Given the description of an element on the screen output the (x, y) to click on. 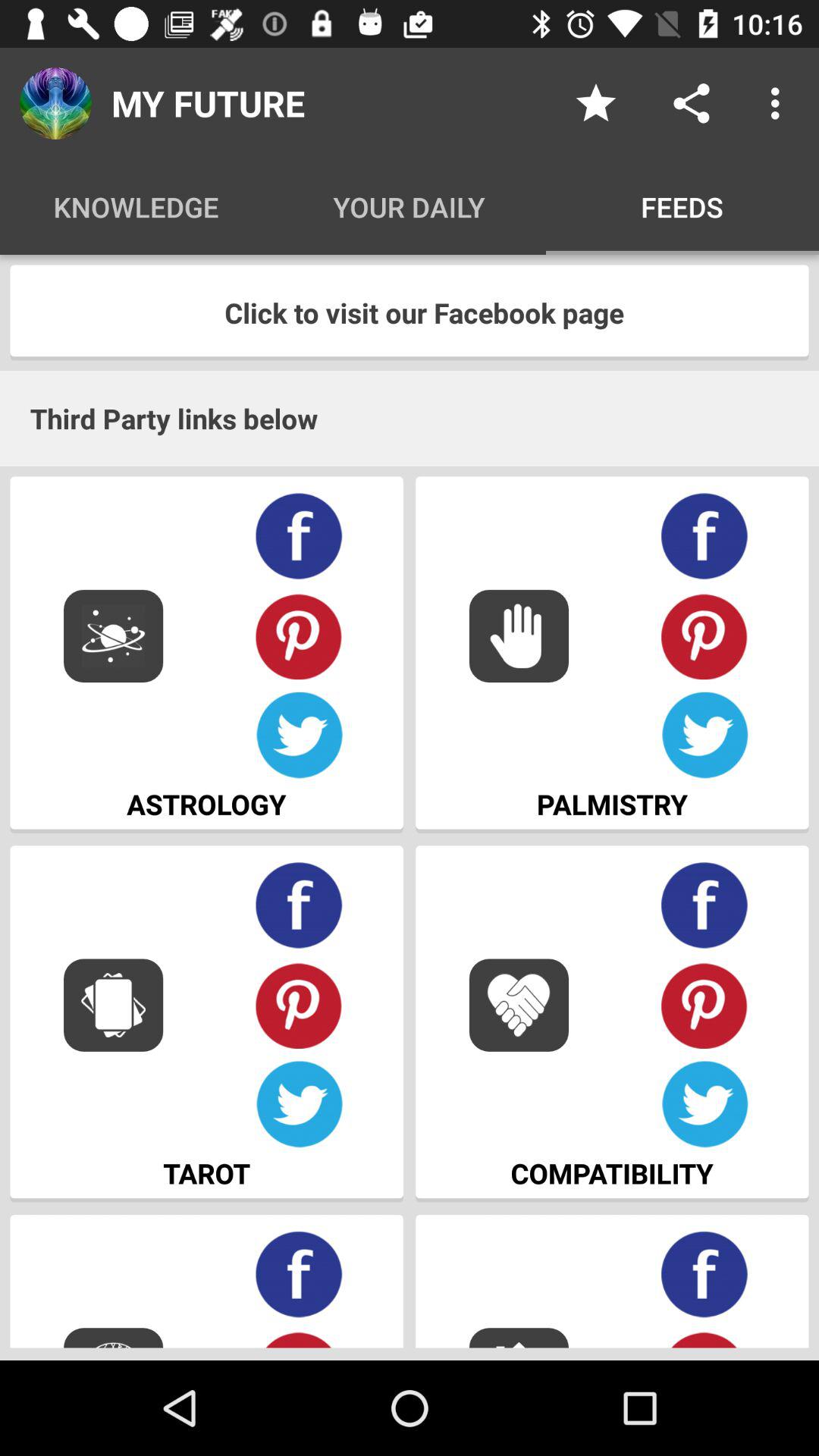
share to twitter (704, 735)
